Given the description of an element on the screen output the (x, y) to click on. 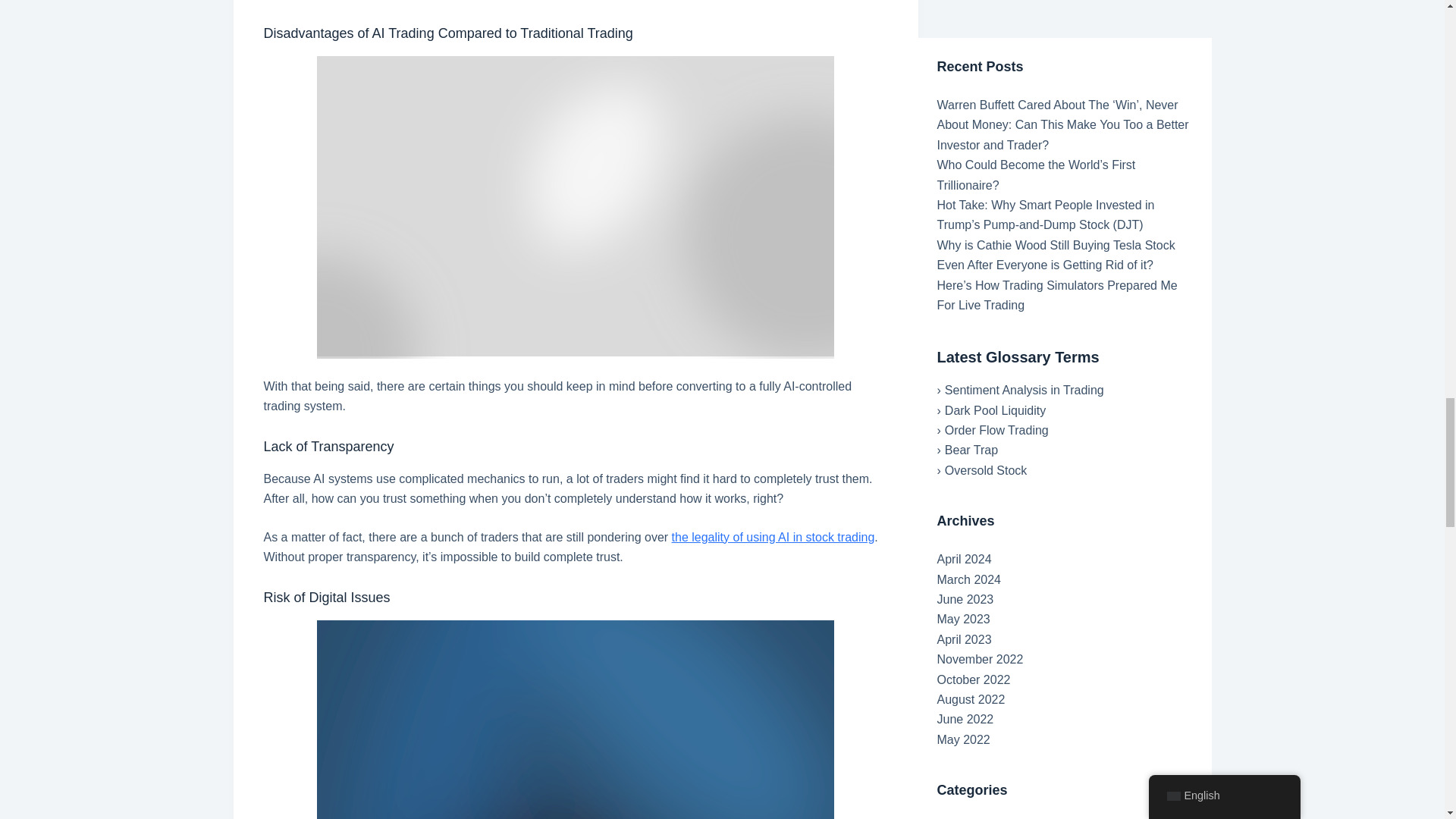
the legality of using AI in stock trading (773, 536)
